Given the description of an element on the screen output the (x, y) to click on. 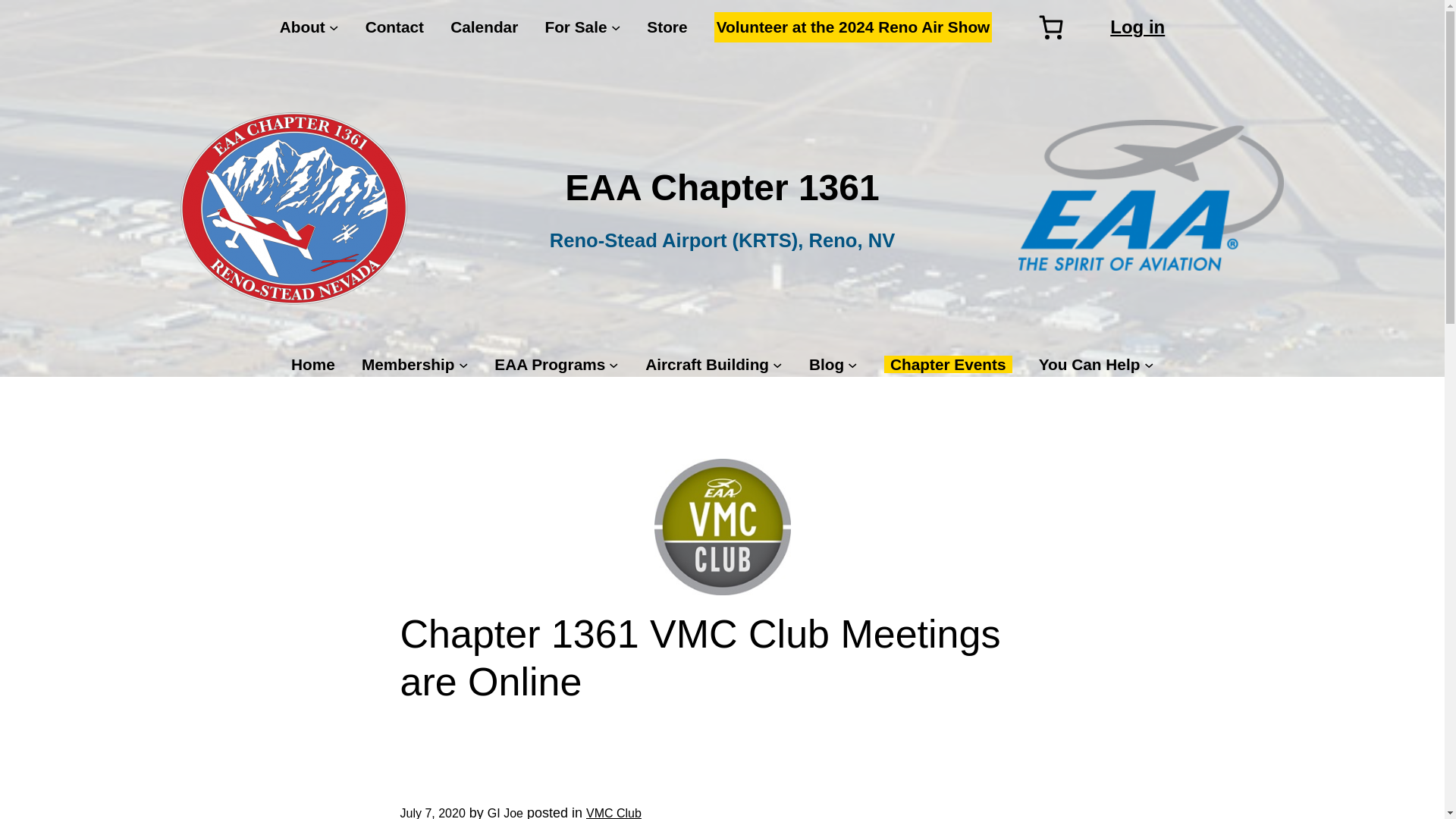
For Sale (575, 26)
Home (312, 364)
Volunteer at the 2024 Reno Air Show (853, 26)
Contact (394, 26)
EAA Chapter 1361 (721, 187)
Log in (1136, 26)
Calendar (483, 26)
Membership (407, 364)
EAA Programs (550, 364)
About (301, 26)
Store (666, 26)
